Given the description of an element on the screen output the (x, y) to click on. 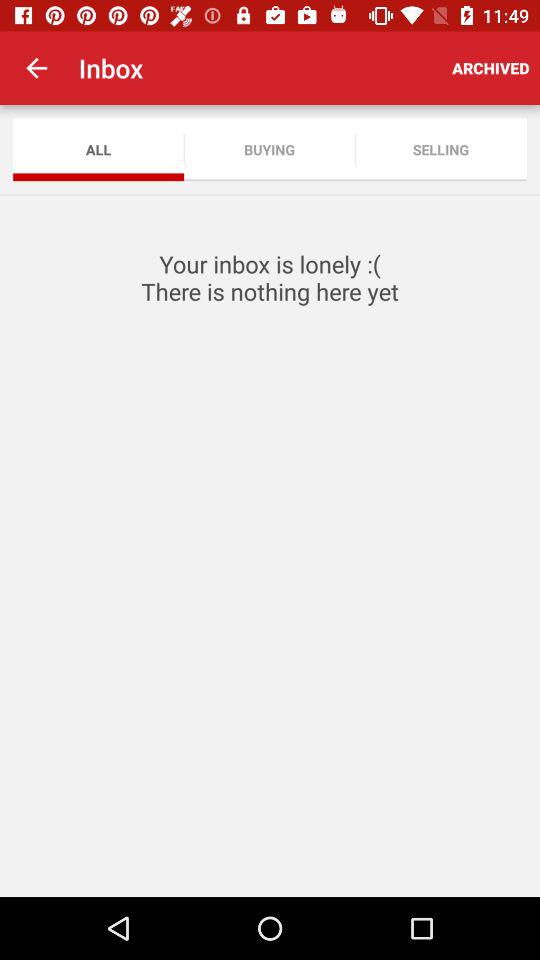
turn off item above all (36, 68)
